Given the description of an element on the screen output the (x, y) to click on. 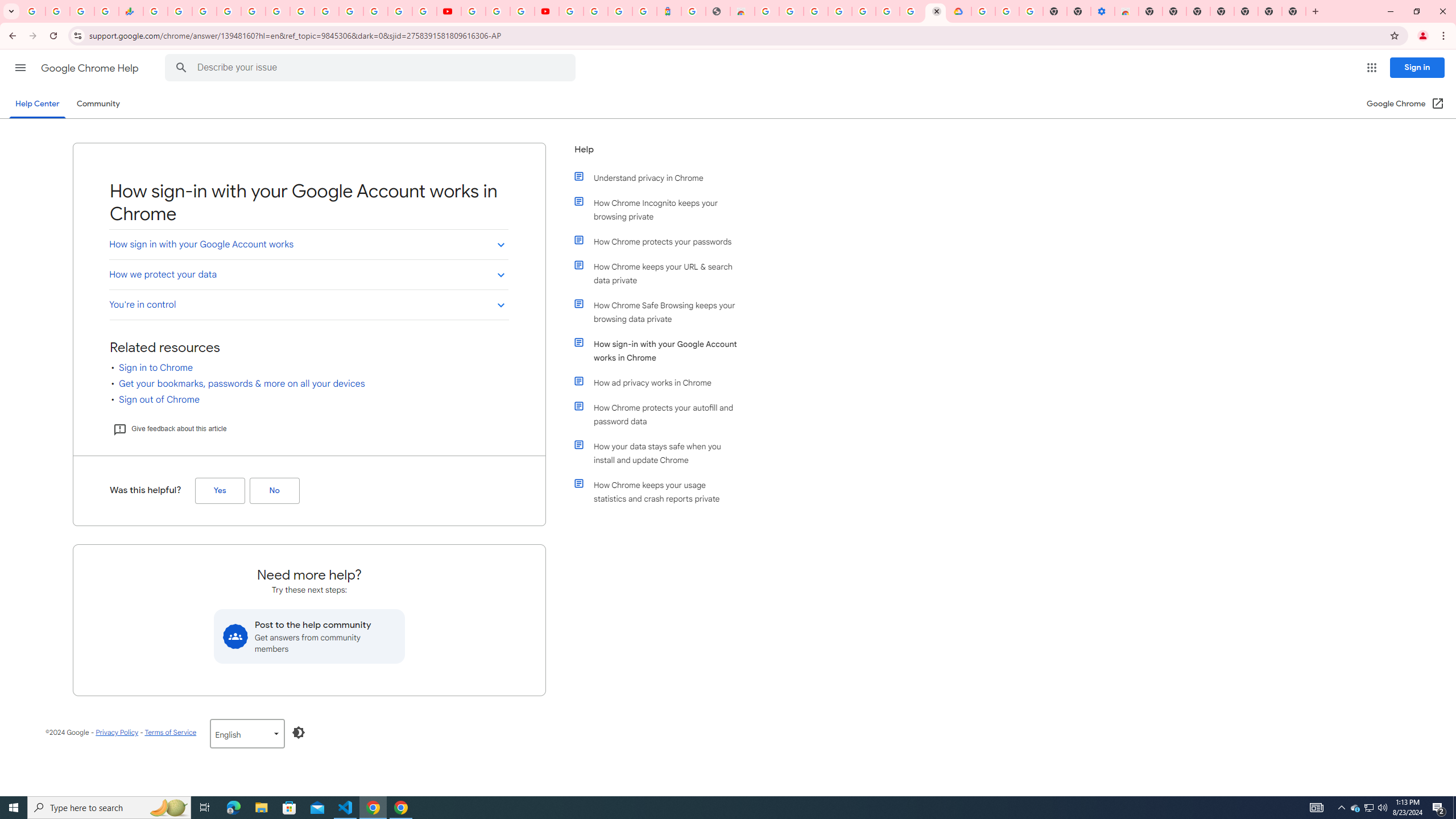
How Chrome Incognito keeps your browsing private (661, 209)
New Tab (1150, 11)
Android TV Policies and Guidelines - Transparency Center (302, 11)
How ad privacy works in Chrome (661, 382)
Yes (Was this helpful?) (219, 490)
Turn cookies on or off - Computer - Google Account Help (1030, 11)
Sign in - Google Accounts (350, 11)
Google Chrome Help (90, 68)
